Given the description of an element on the screen output the (x, y) to click on. 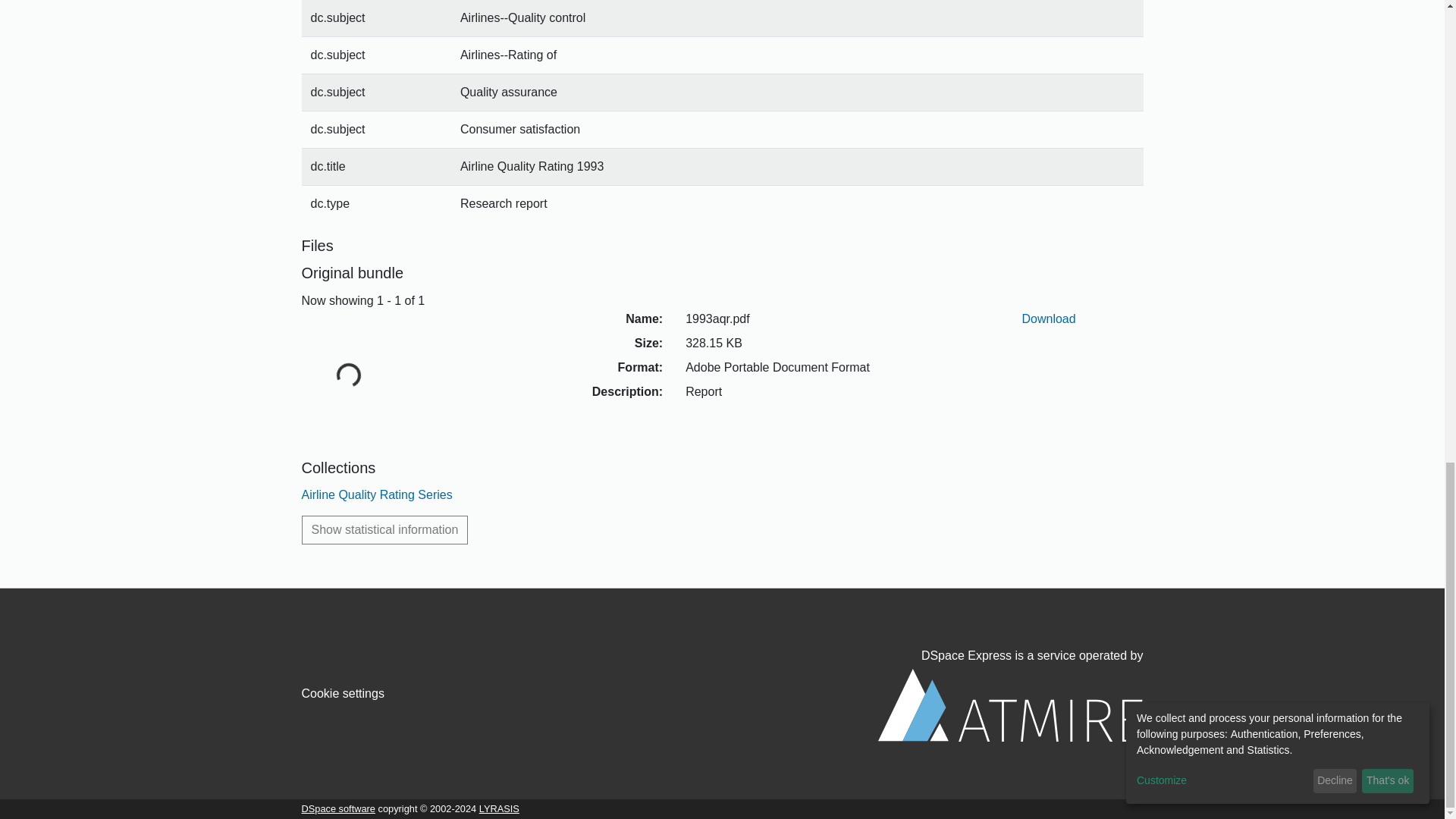
Airline Quality Rating Series (376, 494)
Cookie settings (342, 693)
Download (1048, 318)
DSpace Express is a service operated by (1009, 695)
DSpace software (338, 808)
Show statistical information (384, 529)
LYRASIS (499, 808)
